Given the description of an element on the screen output the (x, y) to click on. 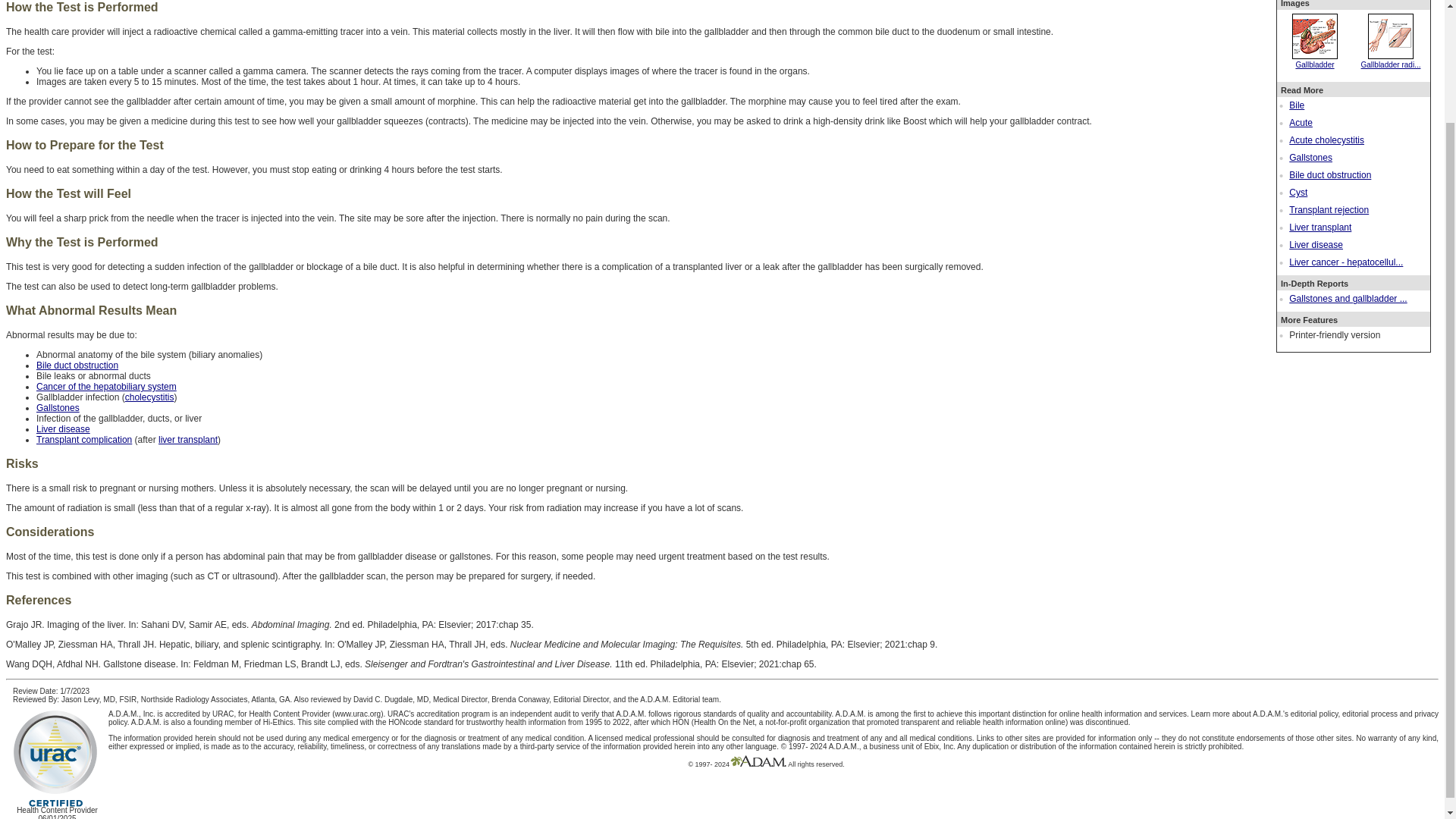
liver transplant (187, 439)
Acute (1300, 122)
Gallbladder radi... (1391, 60)
Transplant complication (84, 439)
Bile duct obstruction (76, 365)
Gallstones (58, 407)
A.D.A.M., Inc. is accredited by URAC (169, 714)
Gallstones and gallbladder ... (1347, 298)
Liver cancer - hepatocellul... (1345, 262)
editorial process (1369, 714)
